Given the description of an element on the screen output the (x, y) to click on. 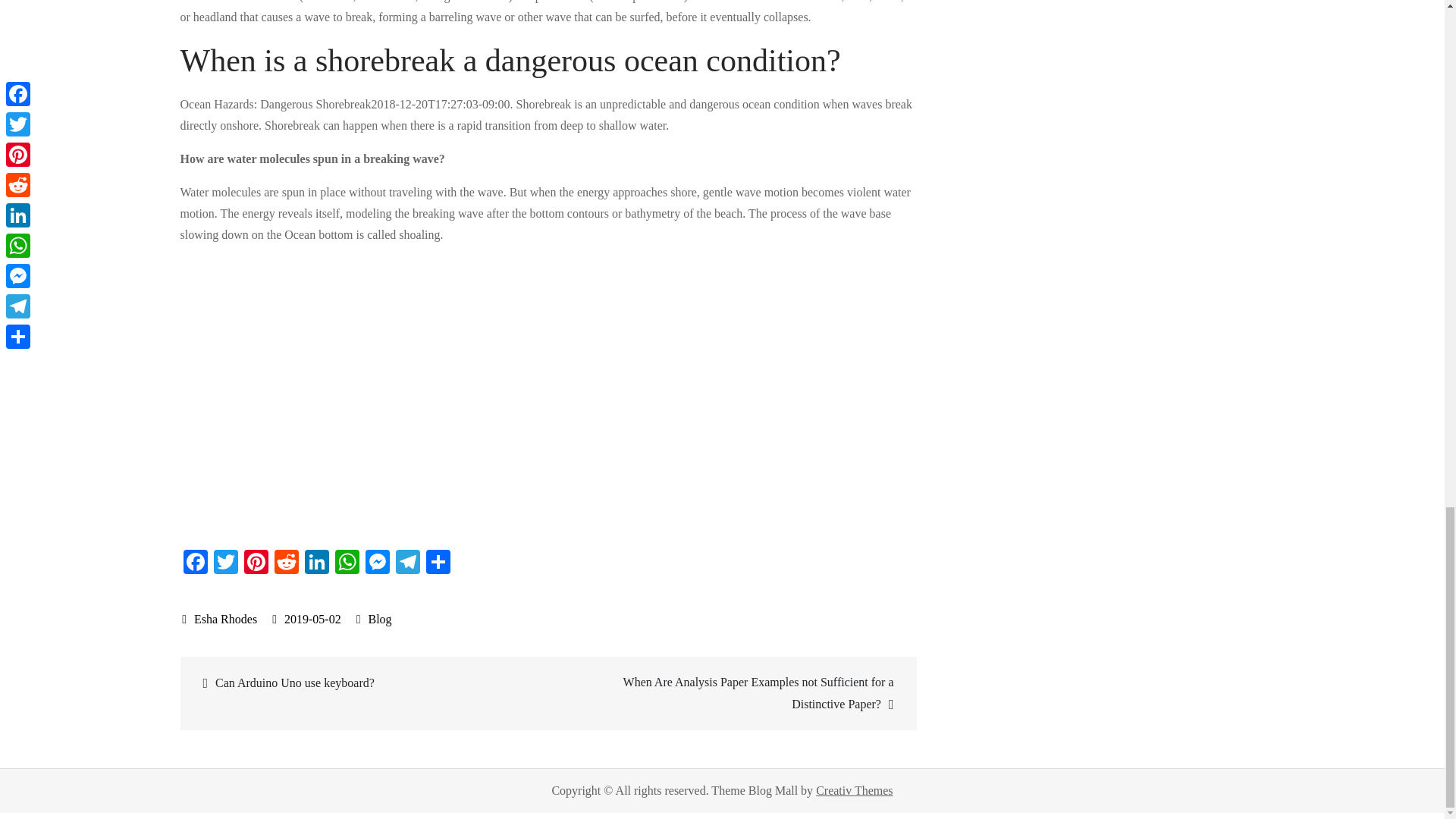
Messenger (377, 563)
Messenger (377, 563)
LinkedIn (316, 563)
Facebook (195, 563)
Can Arduino Uno use keyboard? (366, 682)
Telegram (408, 563)
Pinterest (255, 563)
Pinterest (255, 563)
2019-05-02 (306, 618)
Reddit (285, 563)
Esha Rhodes (219, 618)
WhatsApp (346, 563)
Reddit (285, 563)
Blog (379, 618)
